Given the description of an element on the screen output the (x, y) to click on. 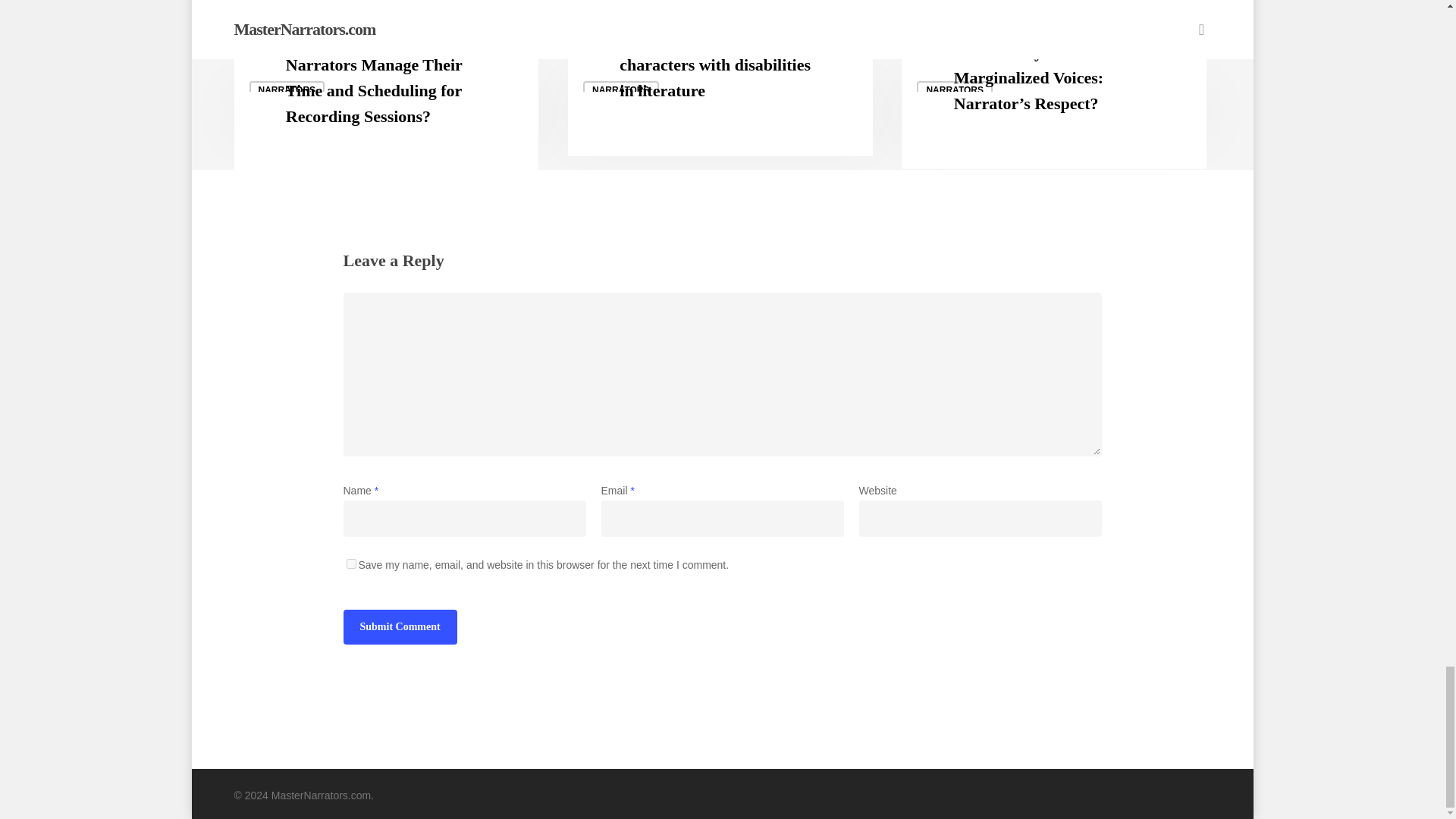
NARRATORS (286, 90)
NARRATORS (621, 90)
yes (350, 563)
Submit Comment (399, 626)
NARRATORS (954, 90)
Submit Comment (399, 626)
